Given the description of an element on the screen output the (x, y) to click on. 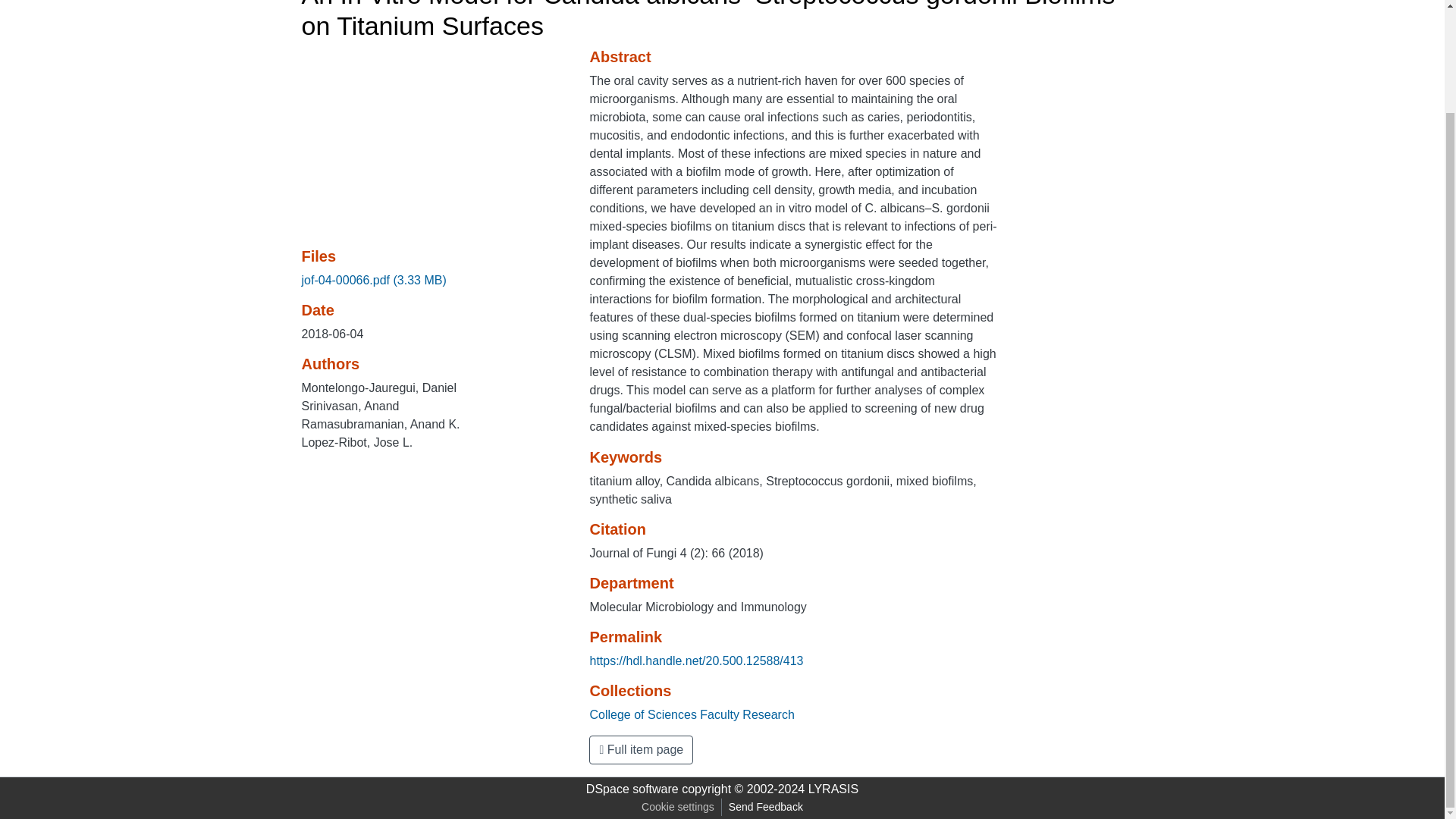
Send Feedback (765, 806)
Cookie settings (677, 806)
Full item page (641, 749)
DSpace software (632, 788)
College of Sciences Faculty Research (691, 714)
LYRASIS (833, 788)
